Given the description of an element on the screen output the (x, y) to click on. 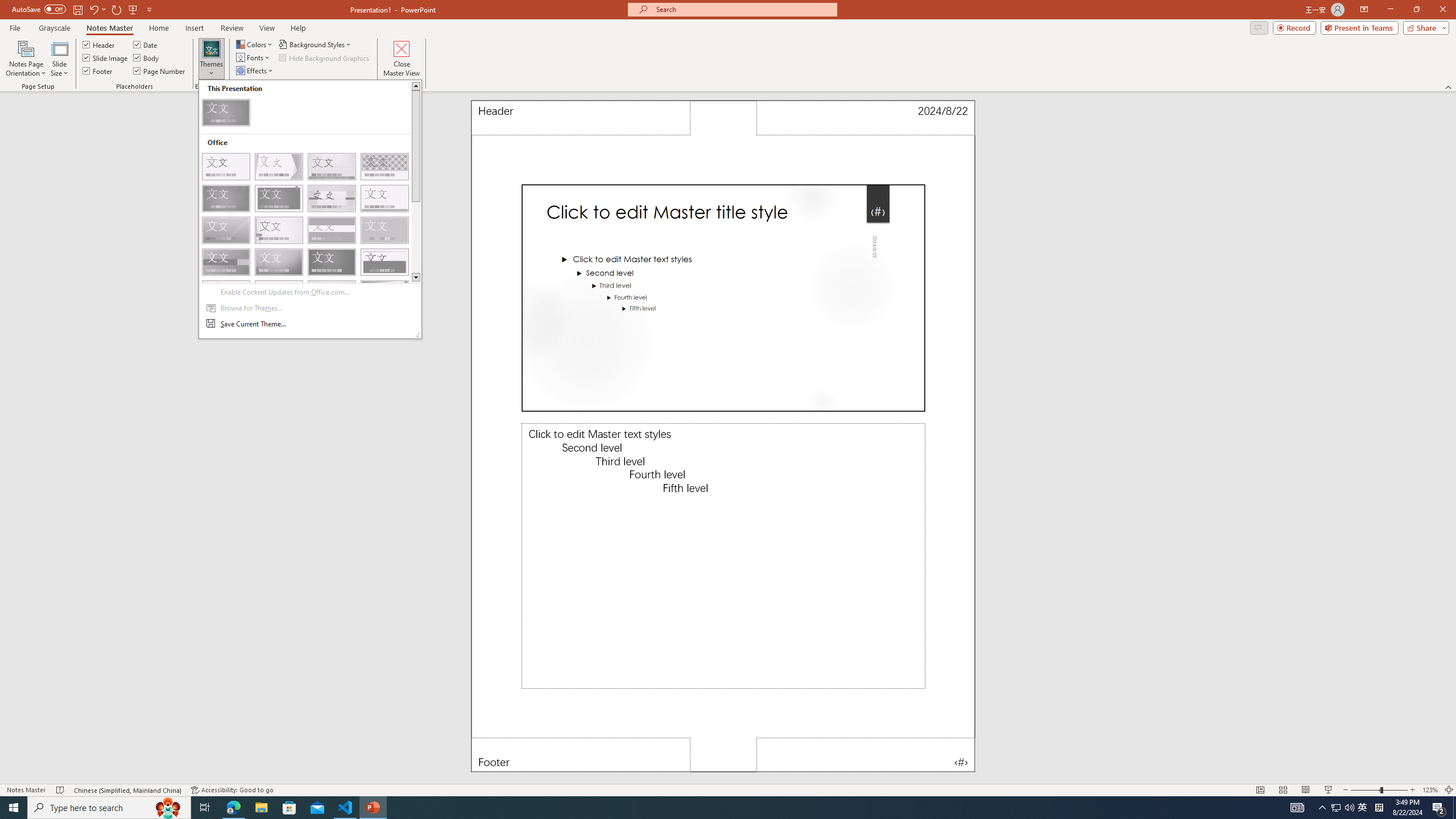
Header (98, 44)
Notes Page Orientation (26, 58)
